Given the description of an element on the screen output the (x, y) to click on. 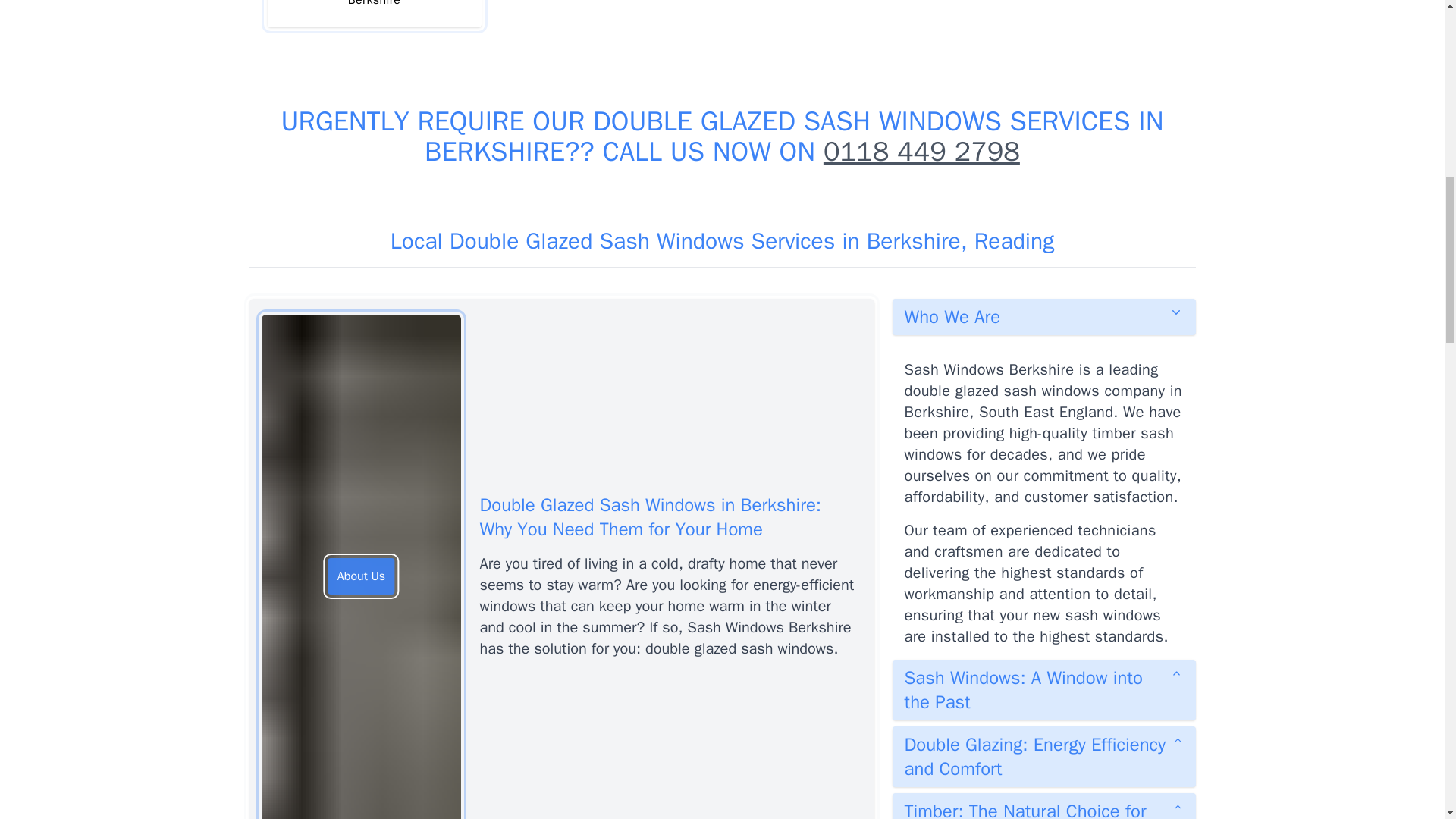
Timber: The Natural Choice for Sash Windows (1043, 806)
0118 449 2798 (922, 151)
Double Glazing: Energy Efficiency and Comfort (1043, 756)
About Us (361, 575)
Who We Are (1043, 316)
Sash Windows: A Window into the Past (1043, 690)
Wooden Sash Windows in Berkshire (373, 13)
